Given the description of an element on the screen output the (x, y) to click on. 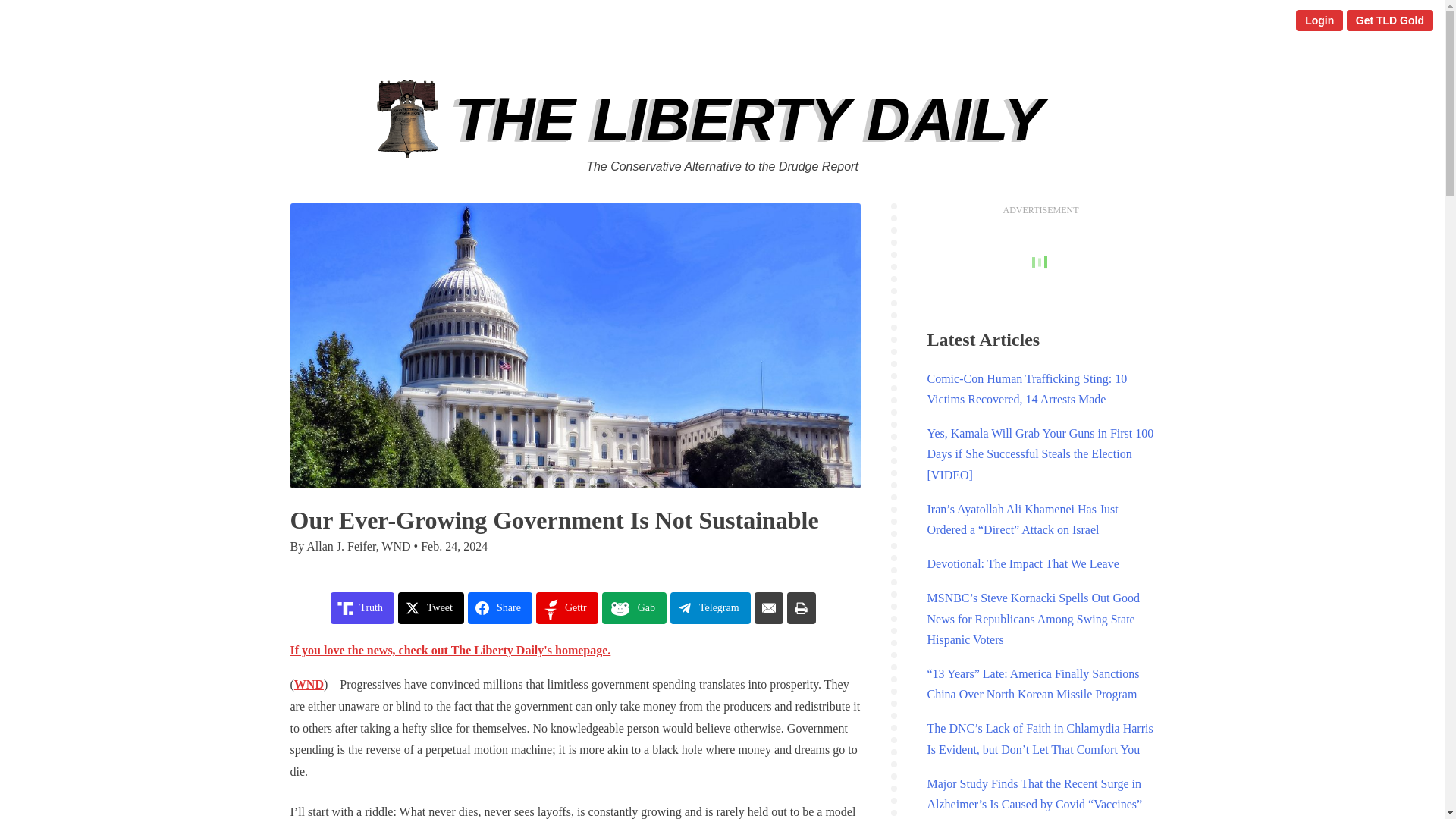
Share (499, 608)
Truth (362, 608)
Share on Telegram (710, 608)
Share on Truth (362, 608)
Telegram (710, 608)
Gettr (566, 608)
Share on Tweet (430, 608)
Tweet (430, 608)
Login (1318, 20)
Get TLD Gold (1389, 20)
Gab (634, 608)
Share on Share (499, 608)
WND (308, 684)
Share on Gab (634, 608)
